Given the description of an element on the screen output the (x, y) to click on. 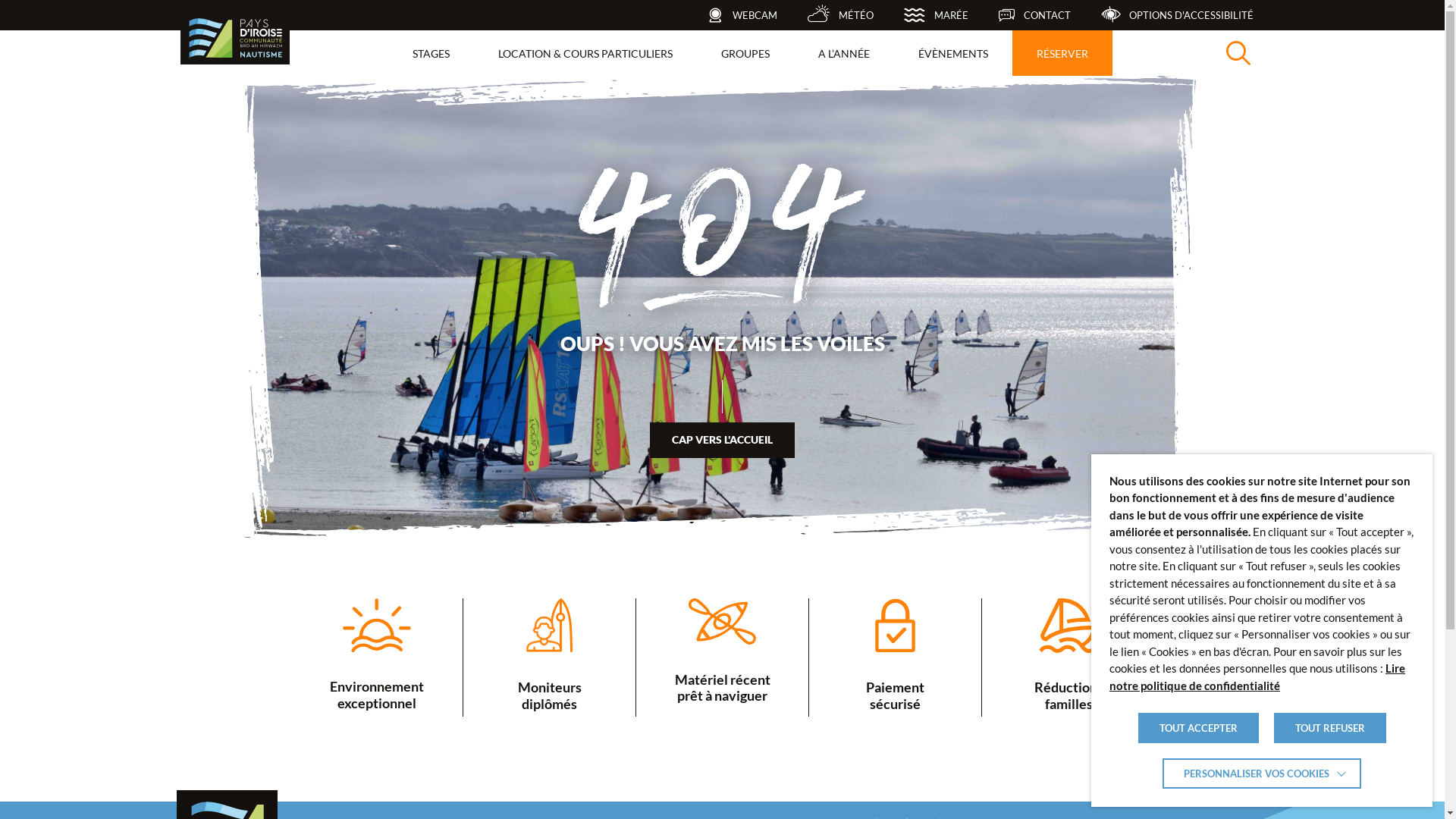
LOCATION & COURS PARTICULIERS Element type: text (585, 53)
PERSONNALISER VOS COOKIES Element type: text (1261, 773)
CONTACT Element type: text (1033, 15)
CAP VERS L'ACCUEIL Element type: text (721, 440)
TOUT REFUSER Element type: text (1330, 727)
WEBCAM Element type: text (741, 15)
TOUT ACCEPTER Element type: text (1197, 727)
STAGES Element type: text (430, 53)
Effectuer une recherche Element type: hover (1237, 52)
GROUPES Element type: text (745, 53)
